Given the description of an element on the screen output the (x, y) to click on. 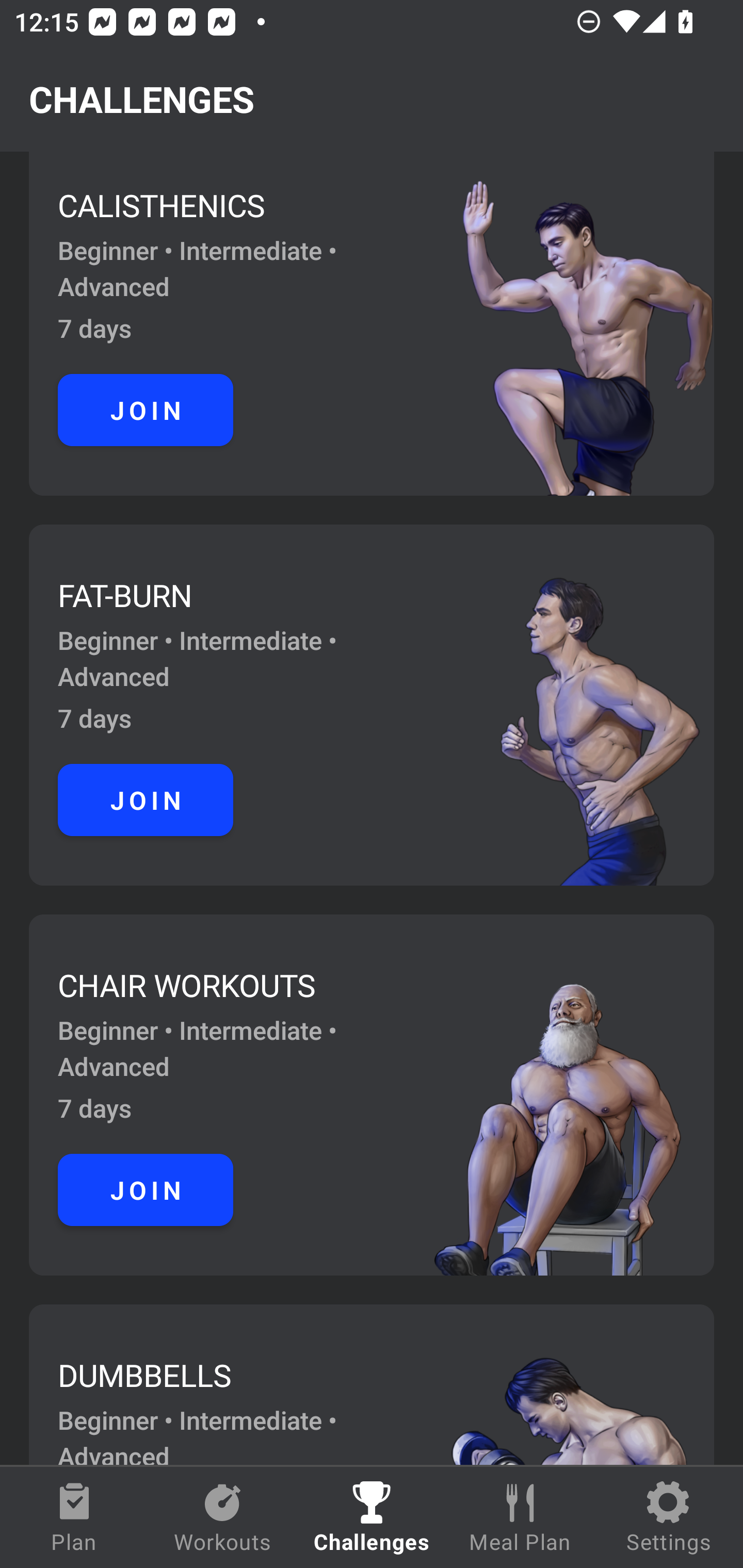
JOIN (145, 409)
JOIN (145, 800)
JOIN (145, 1190)
 Plan  (74, 1517)
 Workouts  (222, 1517)
 Meal Plan  (519, 1517)
 Settings  (668, 1517)
